Given the description of an element on the screen output the (x, y) to click on. 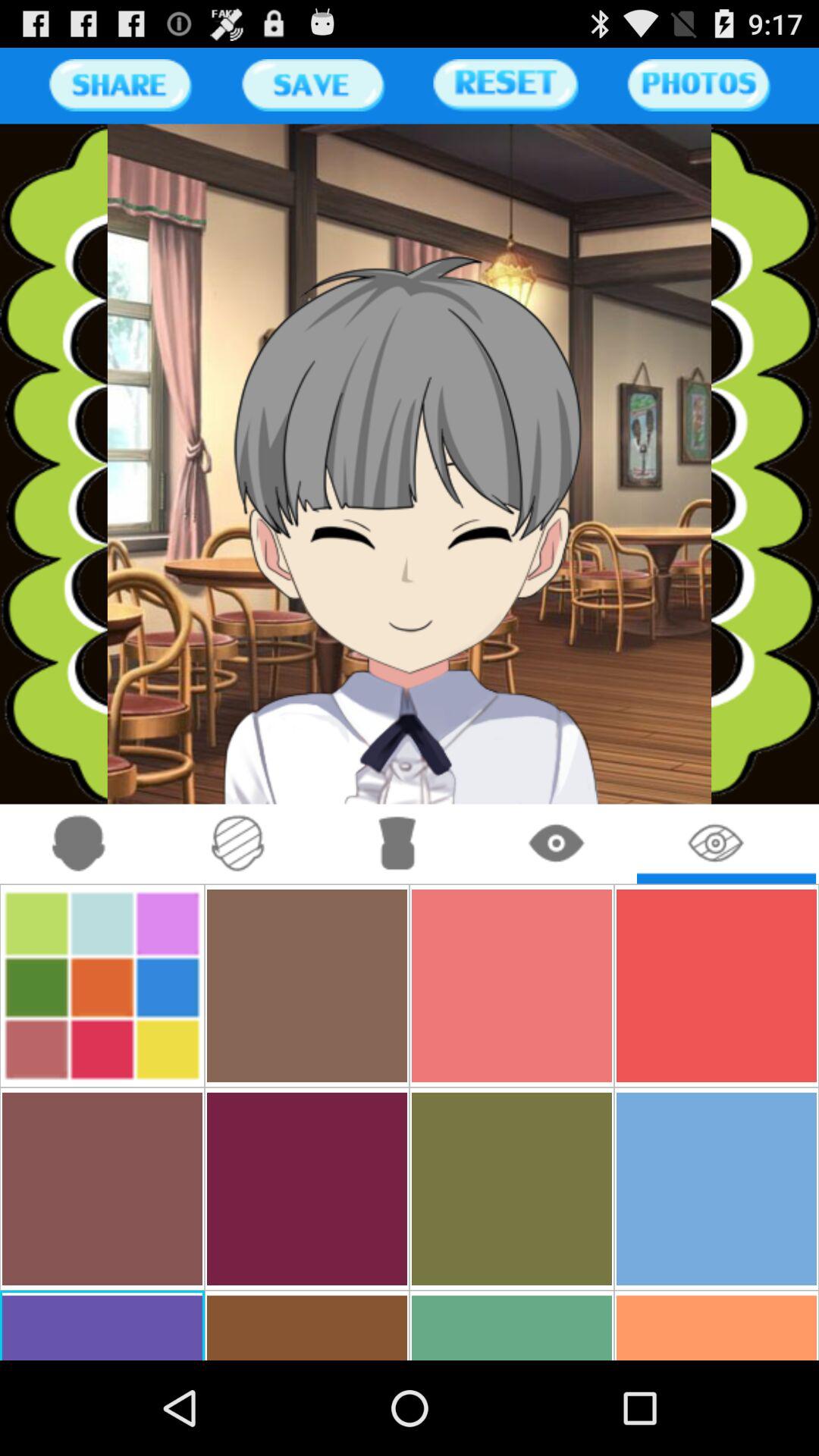
reset the app start over (505, 85)
